Given the description of an element on the screen output the (x, y) to click on. 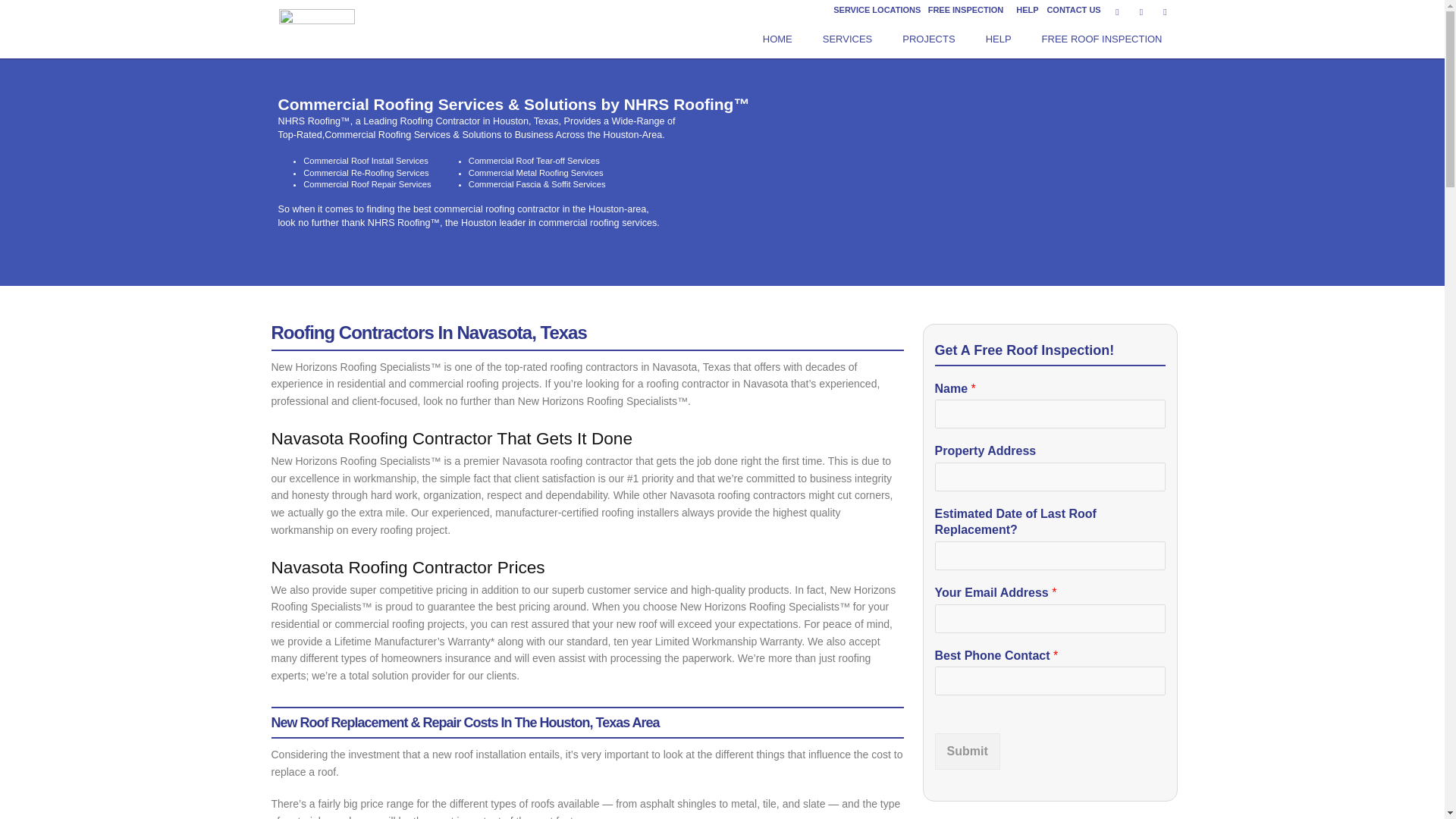
FREE INSPECTION (966, 9)
HELP (998, 39)
SERVICES (848, 39)
Submit (966, 751)
HELP (1027, 9)
SERVICE LOCATIONS (876, 9)
FREE ROOF INSPECTION (1101, 39)
HOME (778, 39)
CONTACT US (1073, 9)
PROJECTS (927, 39)
